Given the description of an element on the screen output the (x, y) to click on. 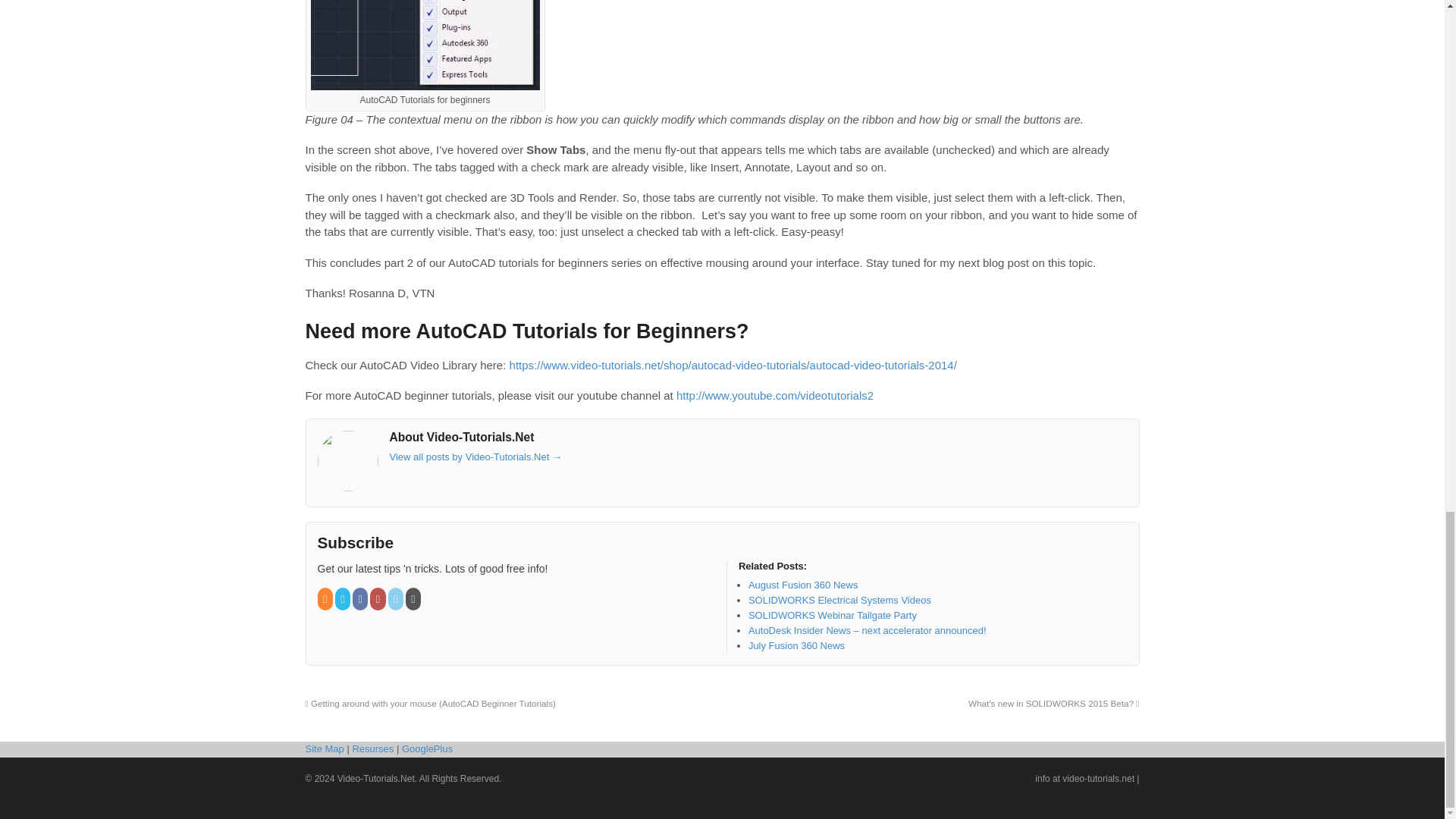
AutoCAD Beginner Tutorials (732, 364)
AutoCAD Basic Tutorials by Video-Tutorials.Net (775, 395)
Facebook (360, 599)
Twitter (343, 599)
RSS (325, 599)
